Given the description of an element on the screen output the (x, y) to click on. 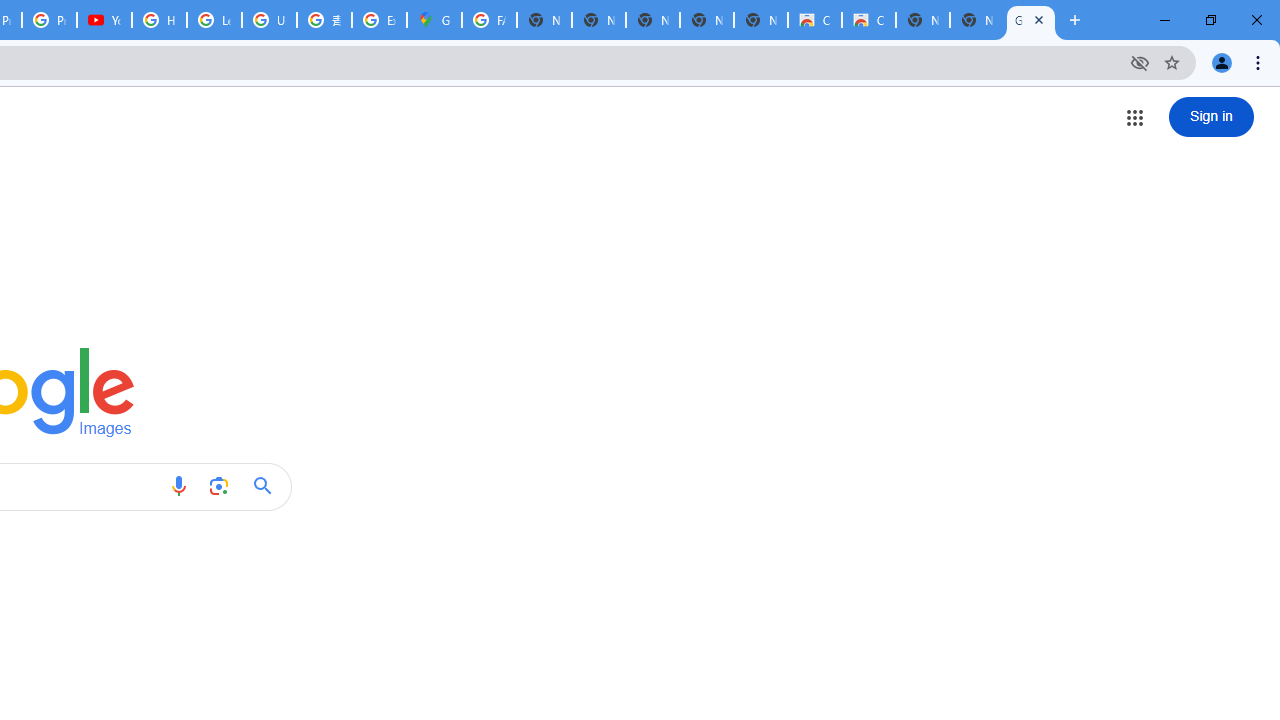
Explore new street-level details - Google Maps Help (379, 20)
New Tab (976, 20)
Privacy Checkup (48, 20)
Google Images (1030, 20)
Classic Blue - Chrome Web Store (815, 20)
YouTube (103, 20)
Google Maps (434, 20)
Classic Blue - Chrome Web Store (868, 20)
Google Search (268, 485)
